Given the description of an element on the screen output the (x, y) to click on. 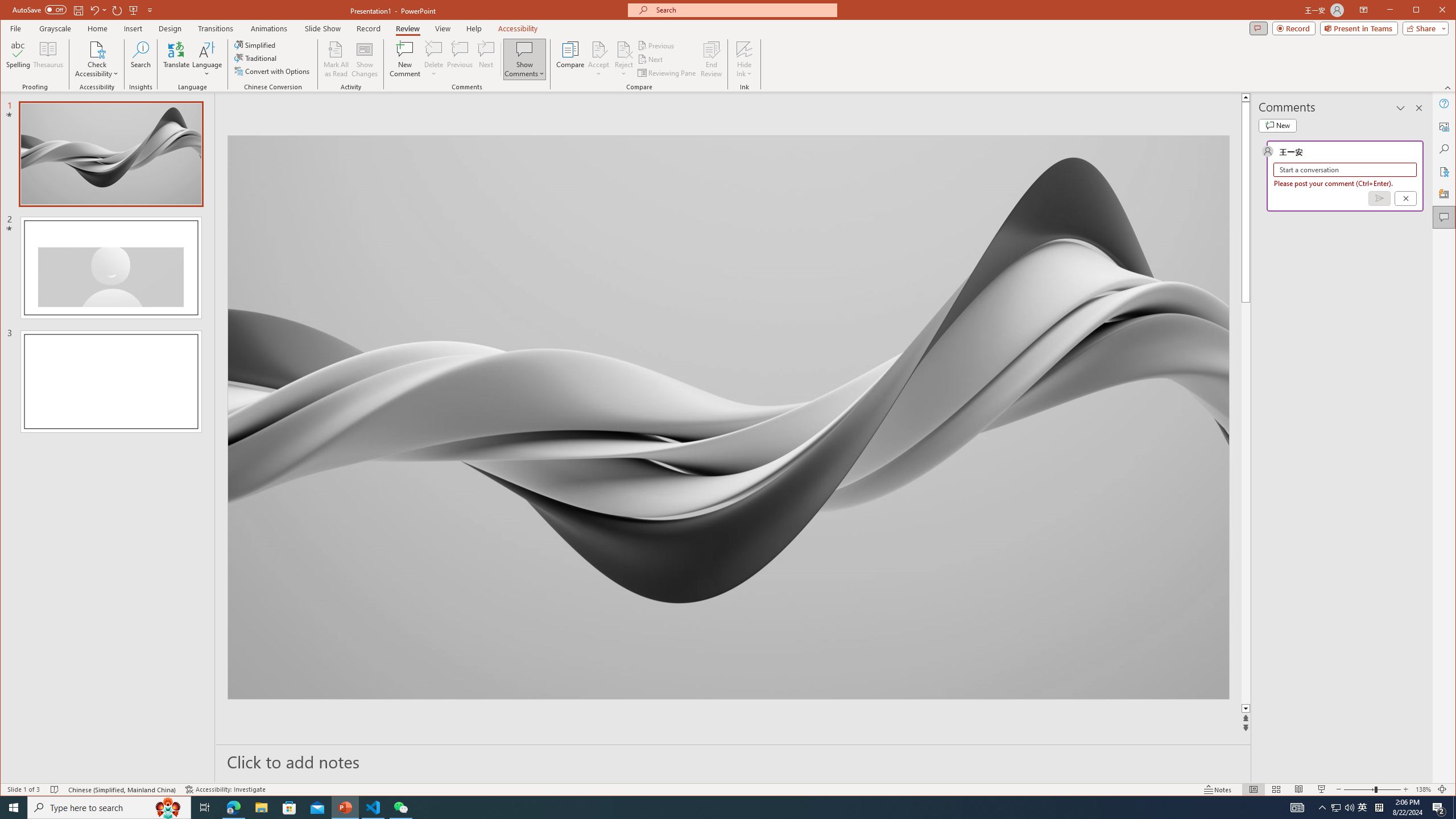
End Review (710, 59)
Convert with Options... (272, 70)
Reject Change (623, 48)
Cancel (1405, 197)
Start a conversation (1344, 169)
Grayscale (55, 28)
